Given the description of an element on the screen output the (x, y) to click on. 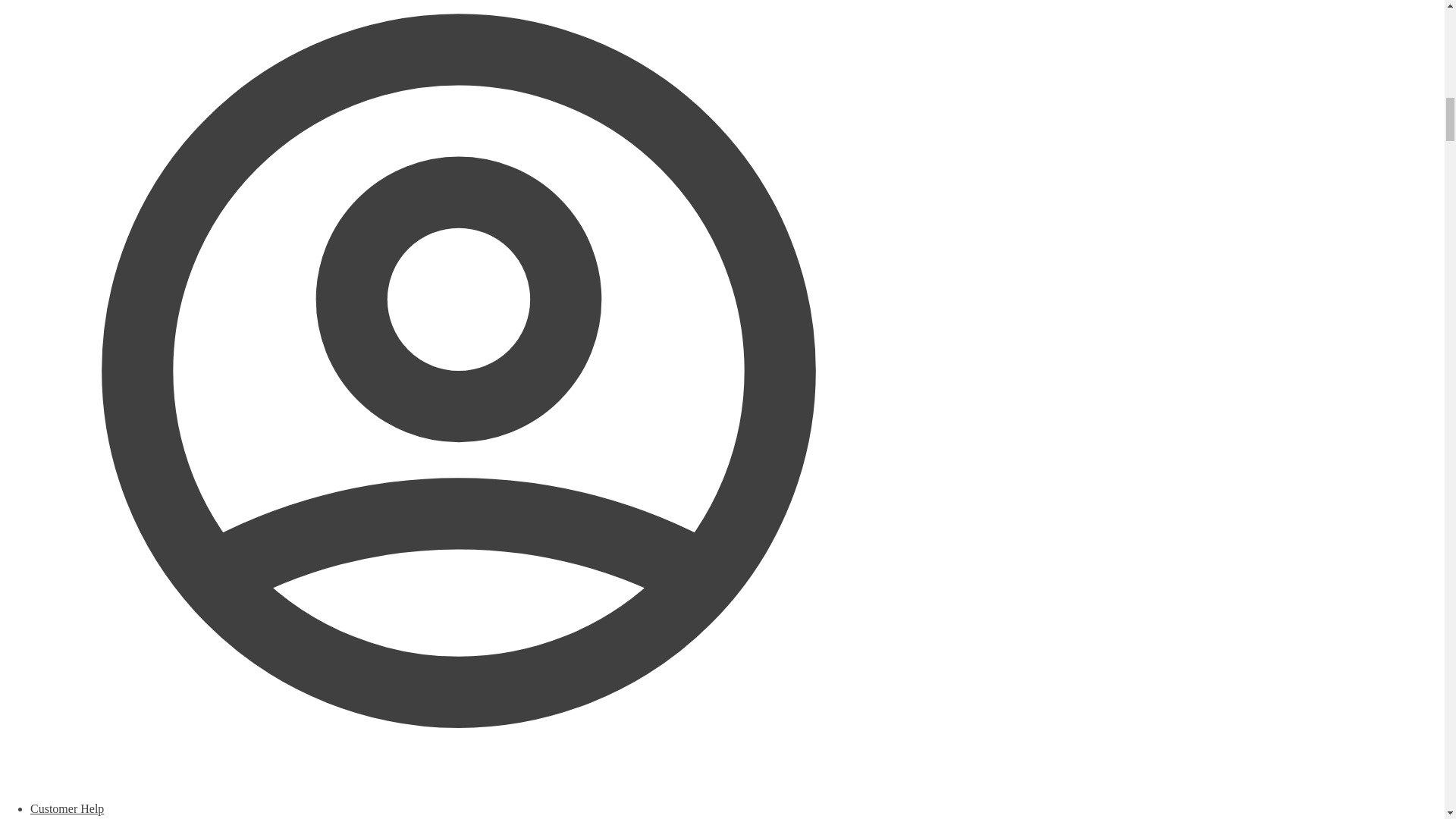
Customer Help (458, 810)
